Given the description of an element on the screen output the (x, y) to click on. 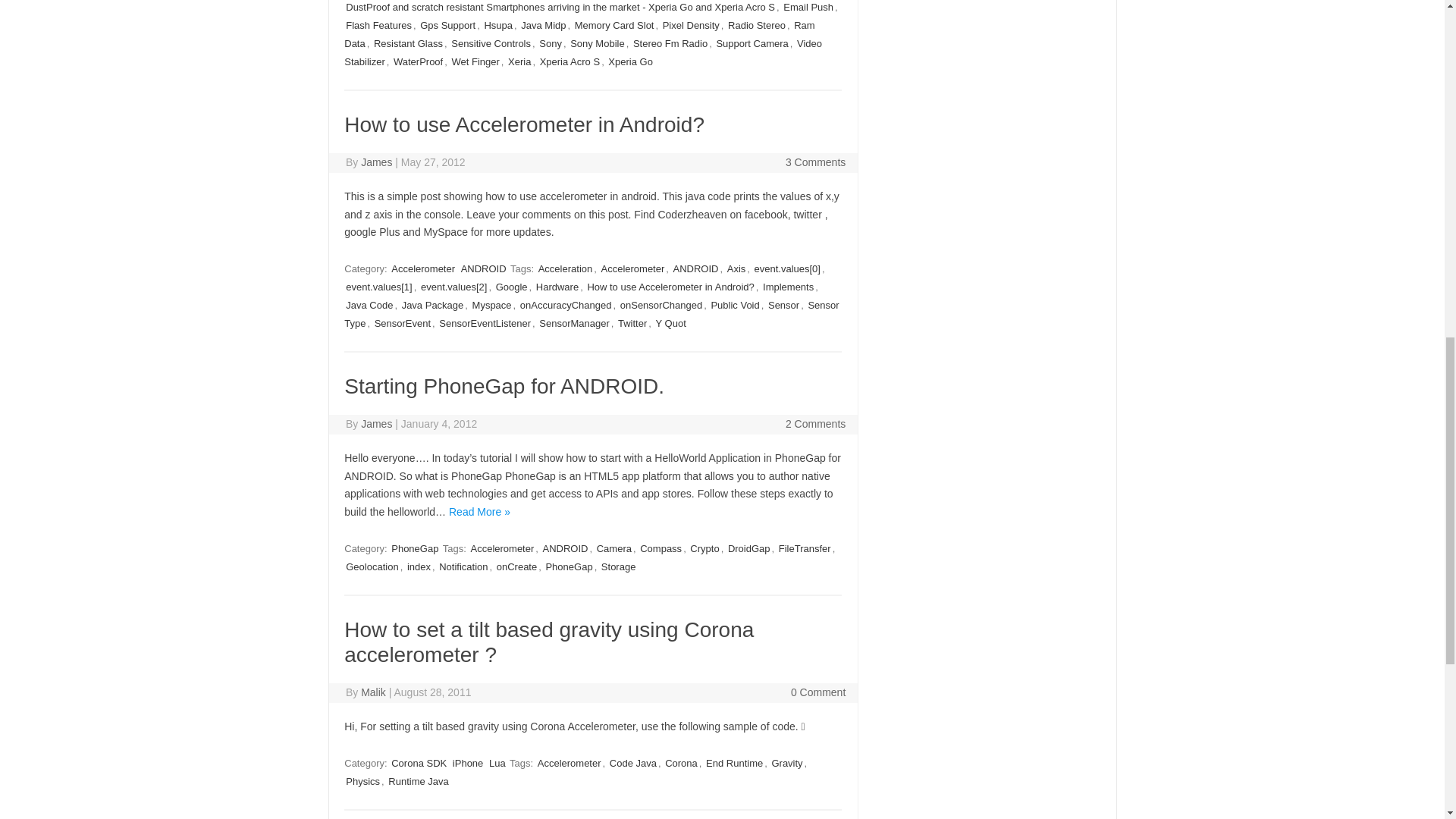
Permalink to Starting PhoneGap for ANDROID. (503, 386)
Permalink to How to use Accelerometer in Android? (523, 124)
Posts by James (376, 162)
Posts by Malik (373, 692)
Posts by James (376, 423)
